Given the description of an element on the screen output the (x, y) to click on. 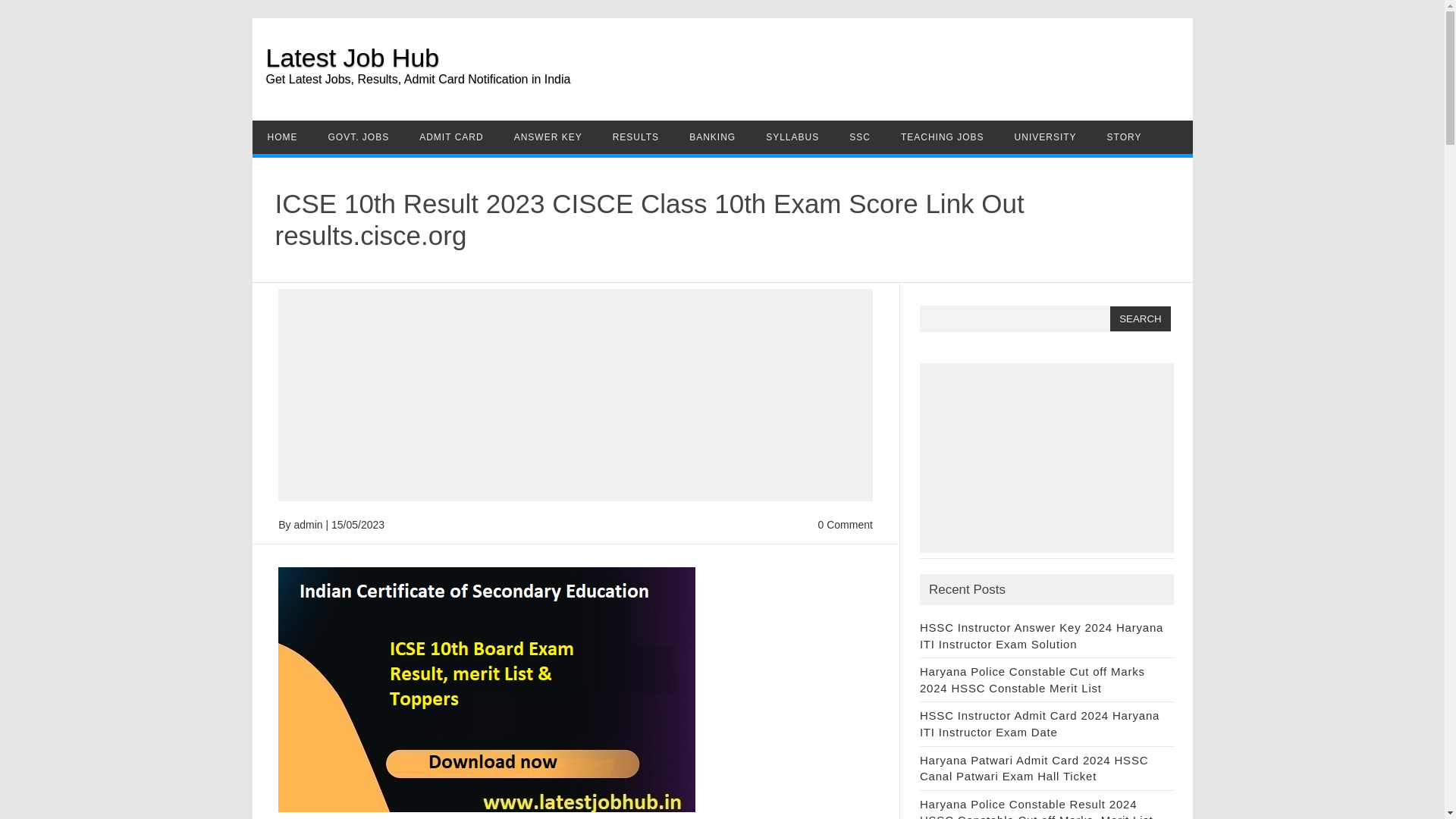
SYLLABUS (792, 136)
Posts by admin (307, 524)
GOVT. JOBS (358, 136)
RESULTS (635, 136)
STORY (1124, 136)
Get Latest Jobs, Results, Admit Card Notification in India (728, 88)
Search (1139, 318)
0 Comment (845, 524)
Advertisement (575, 395)
UNIVERSITY (1045, 136)
